Given the description of an element on the screen output the (x, y) to click on. 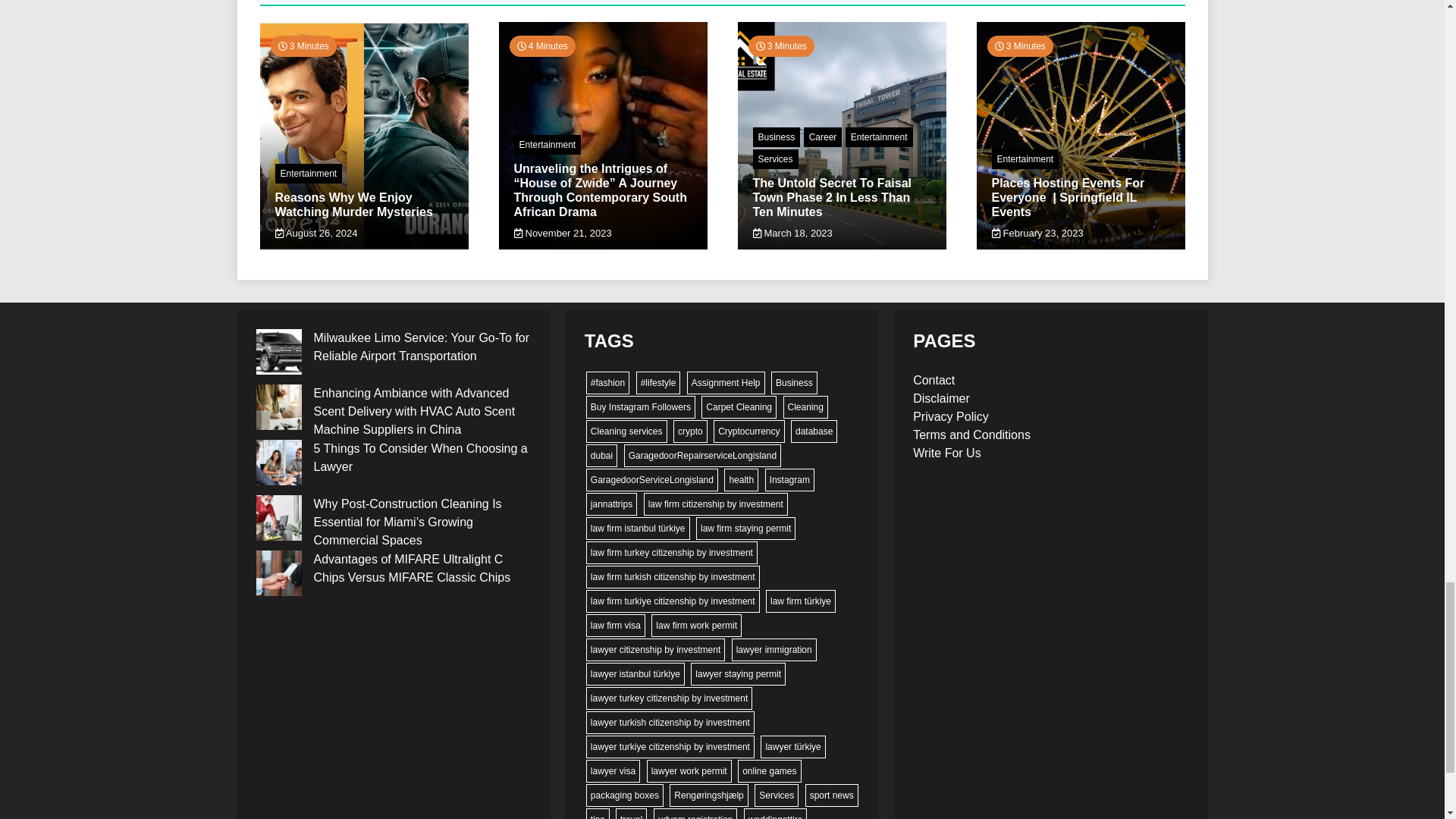
Estimated Reading Time of Article (542, 46)
Estimated Reading Time of Article (302, 46)
Estimated Reading Time of Article (1019, 46)
Estimated Reading Time of Article (780, 46)
